Given the description of an element on the screen output the (x, y) to click on. 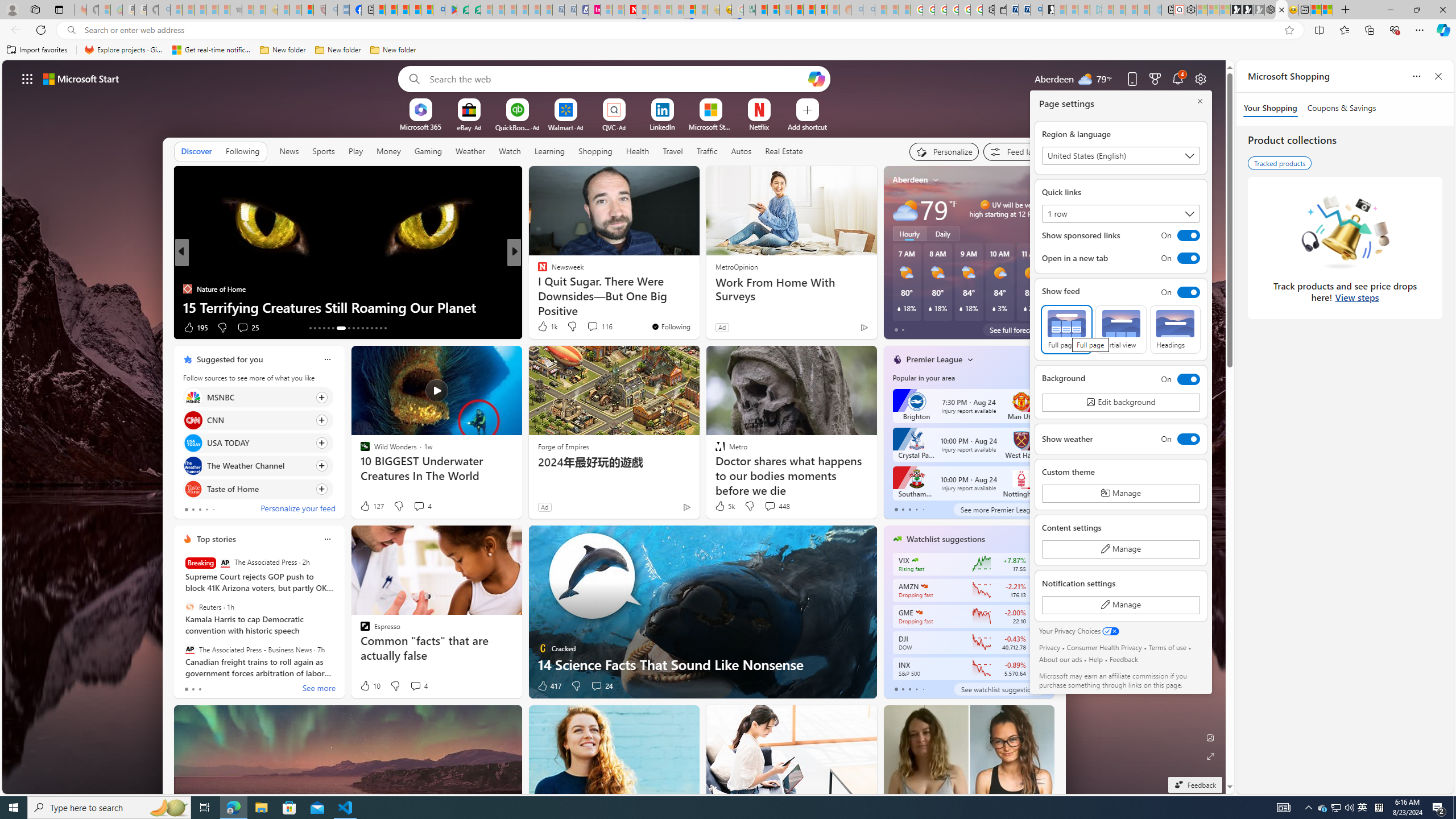
Terms of use (1167, 646)
Play Free Online Games | Games from Microsoft Start (1235, 9)
View comments 24 Comment (595, 685)
10 Like (368, 685)
AutomationID: backgroundImagePicture (613, 426)
View comments 448 Comment (776, 505)
Nordace - Nordace Siena Is Not An Ordinary Backpack (1270, 9)
Top stories (215, 538)
